Given the description of an element on the screen output the (x, y) to click on. 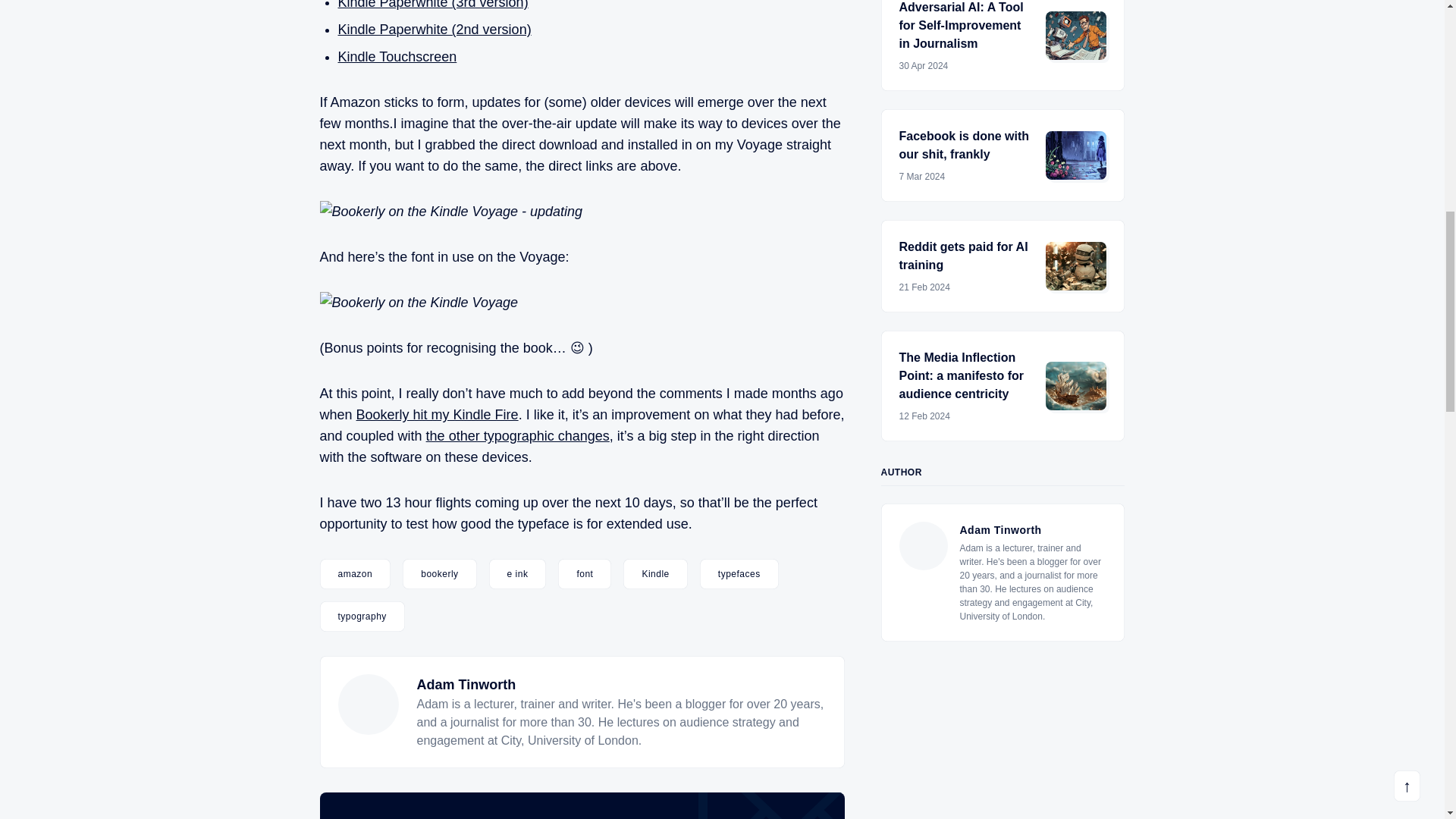
the other typographic changes (518, 435)
font (584, 573)
e ink (518, 573)
amazon (355, 573)
Kindle Touchscreen (397, 56)
Bookerly hit my Kindle Fire (437, 414)
bookerly (439, 573)
